Given the description of an element on the screen output the (x, y) to click on. 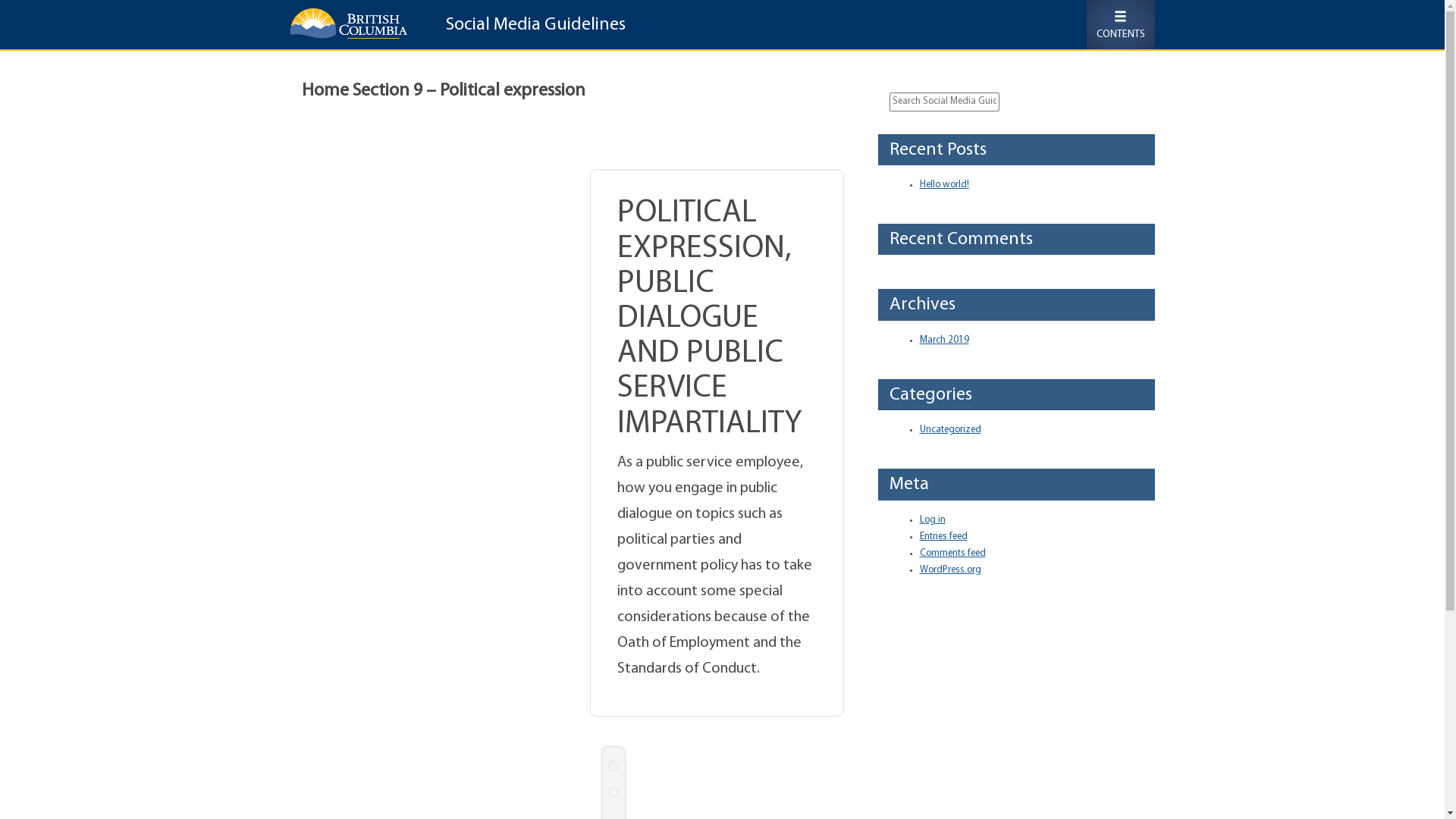
March 2019 Element type: text (943, 340)
WordPress.org Element type: text (949, 569)
Uncategorized Element type: text (949, 429)
Comments feed Element type: text (952, 553)
Toggle Menu Element type: text (1119, 24)
Hello world! Element type: text (943, 184)
Entries feed Element type: text (942, 536)
Social Media Guidelines Element type: text (528, 26)
Log in Element type: text (931, 519)
